Given the description of an element on the screen output the (x, y) to click on. 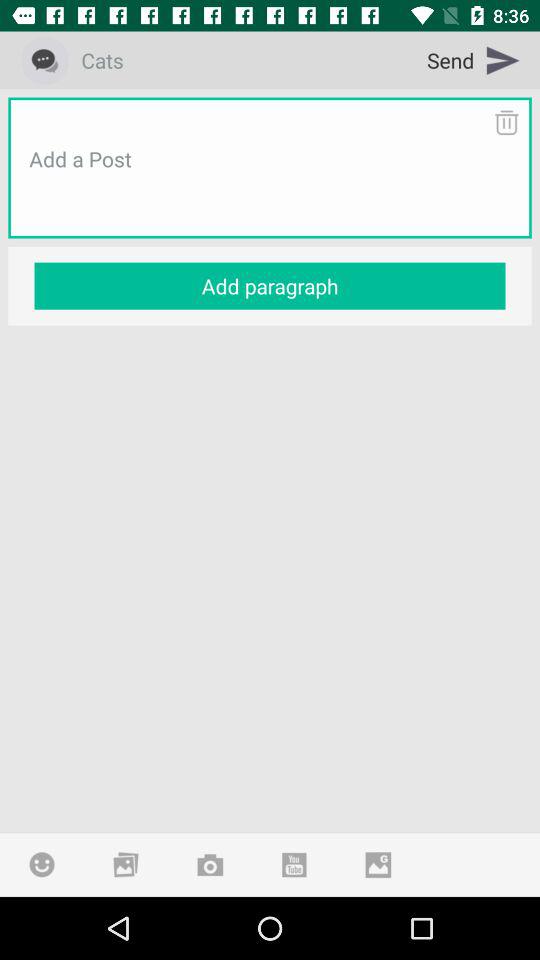
attach photo (378, 864)
